Given the description of an element on the screen output the (x, y) to click on. 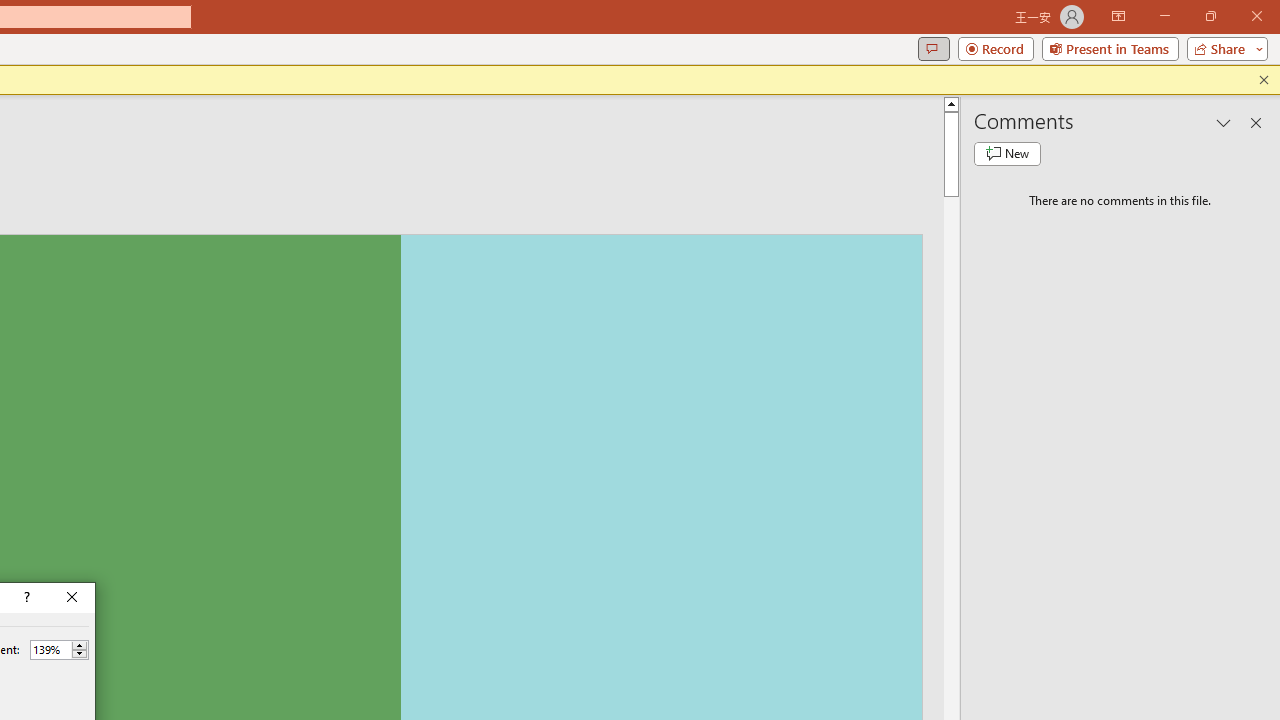
Context help (25, 597)
Close this message (1263, 80)
Percent (59, 650)
